Given the description of an element on the screen output the (x, y) to click on. 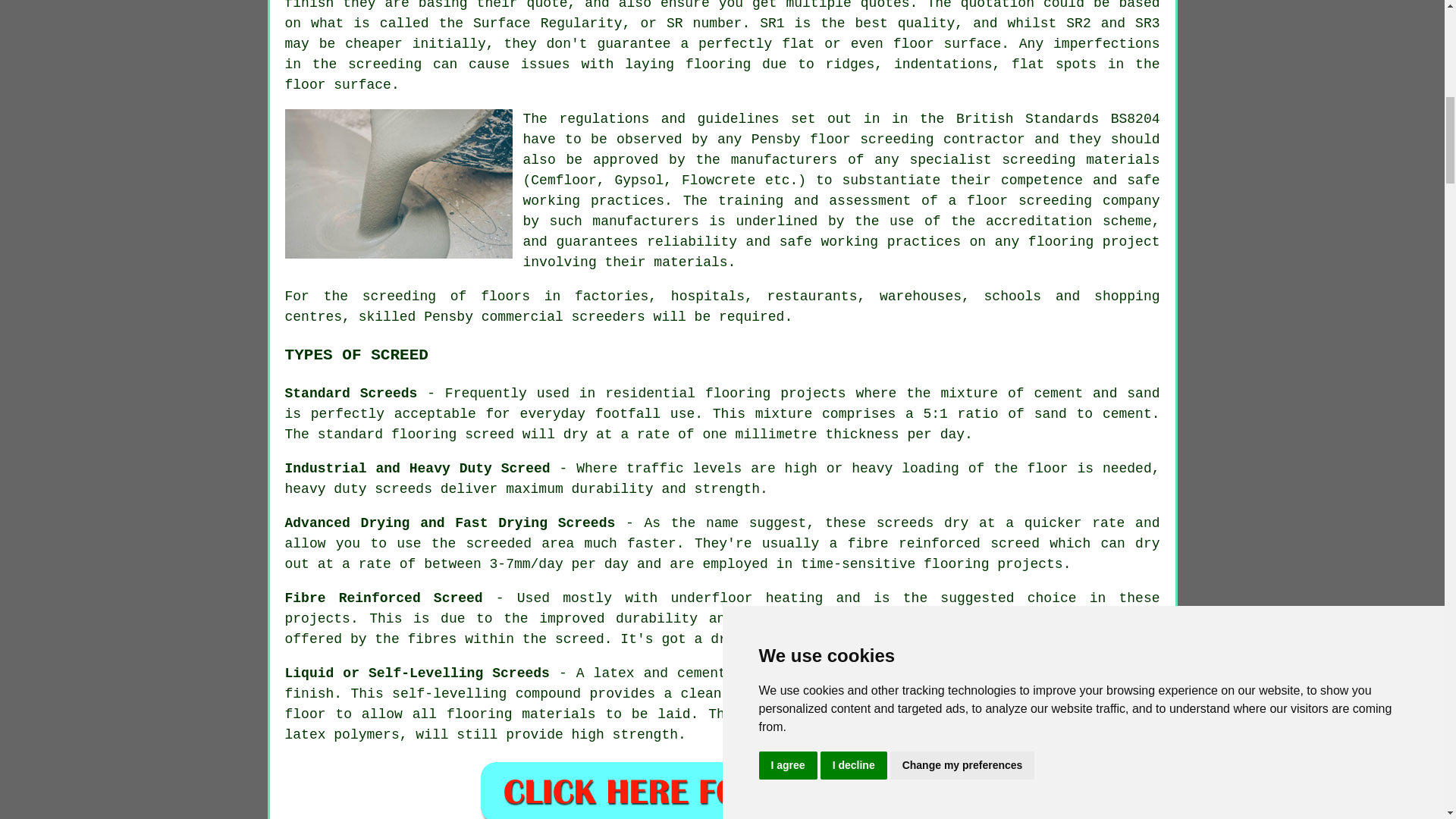
latex polymers (341, 734)
flooring screed (452, 433)
heavy duty screeds (358, 488)
screeders (608, 316)
fibre reinforced (913, 542)
Screeding Quotes Pensby Merseyside (722, 788)
